Given the description of an element on the screen output the (x, y) to click on. 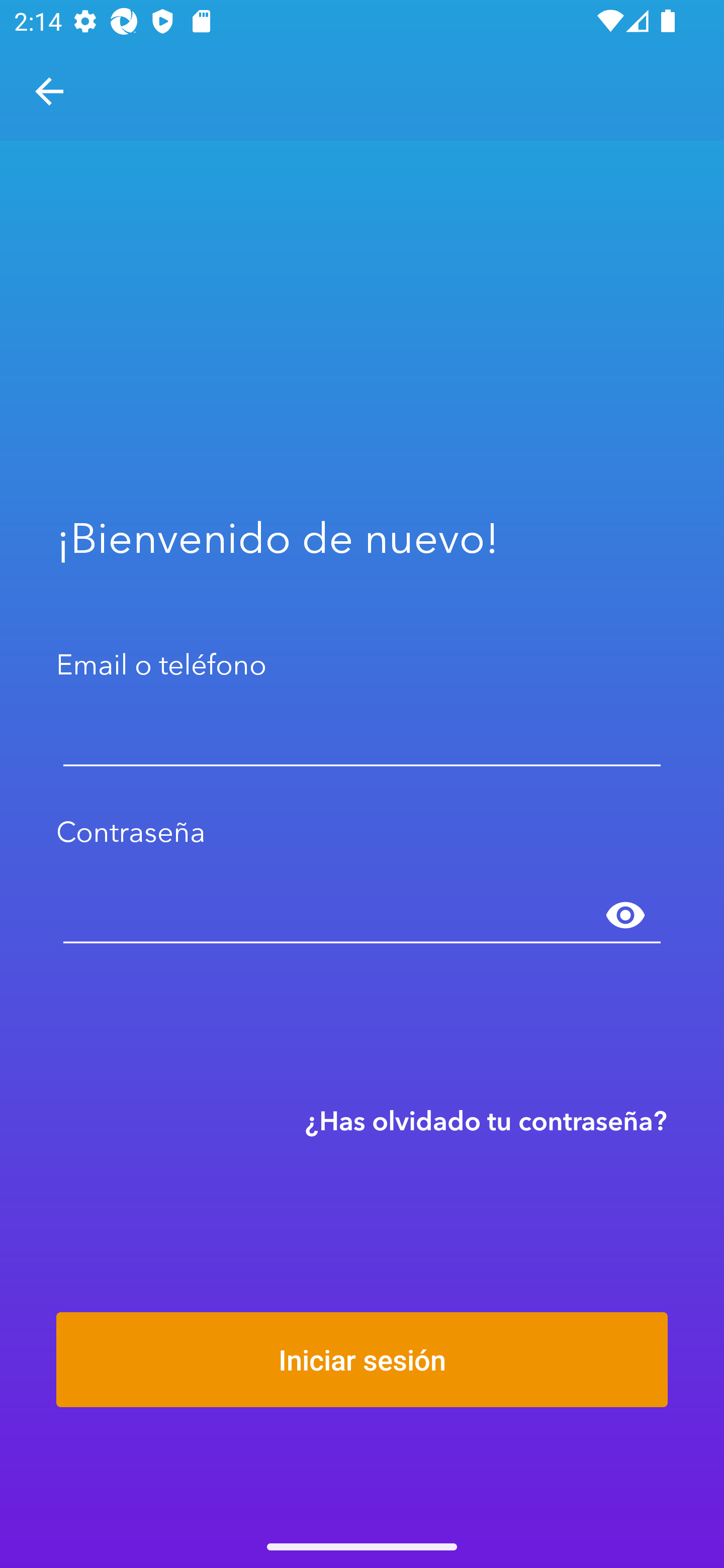
Navegar hacia arriba (49, 91)
Mostrar contraseña (625, 915)
¿Has olvidado tu contraseña? (486, 1119)
Iniciar sesión (361, 1359)
